Given the description of an element on the screen output the (x, y) to click on. 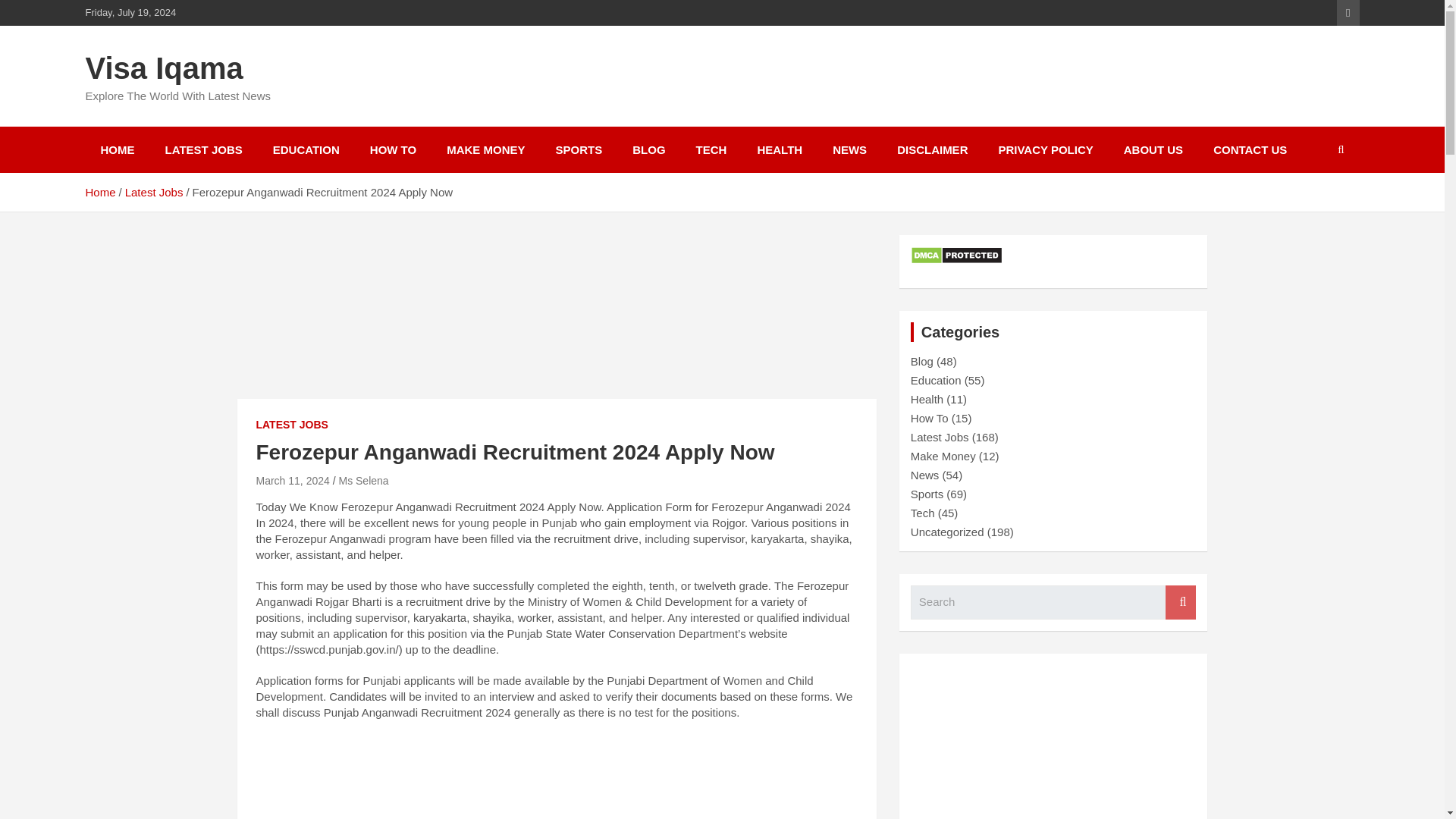
Ms Selena (362, 480)
HOME (116, 149)
LATEST JOBS (203, 149)
MAKE MONEY (485, 149)
CONTACT US (1249, 149)
March 11, 2024 (293, 480)
DISCLAIMER (932, 149)
Ferozepur Anganwadi Recruitment 2024 Apply Now (293, 480)
SPORTS (578, 149)
ABOUT US (1153, 149)
Advertisement (556, 777)
PRIVACY POLICY (1045, 149)
BLOG (648, 149)
HEALTH (778, 149)
EDUCATION (306, 149)
